Given the description of an element on the screen output the (x, y) to click on. 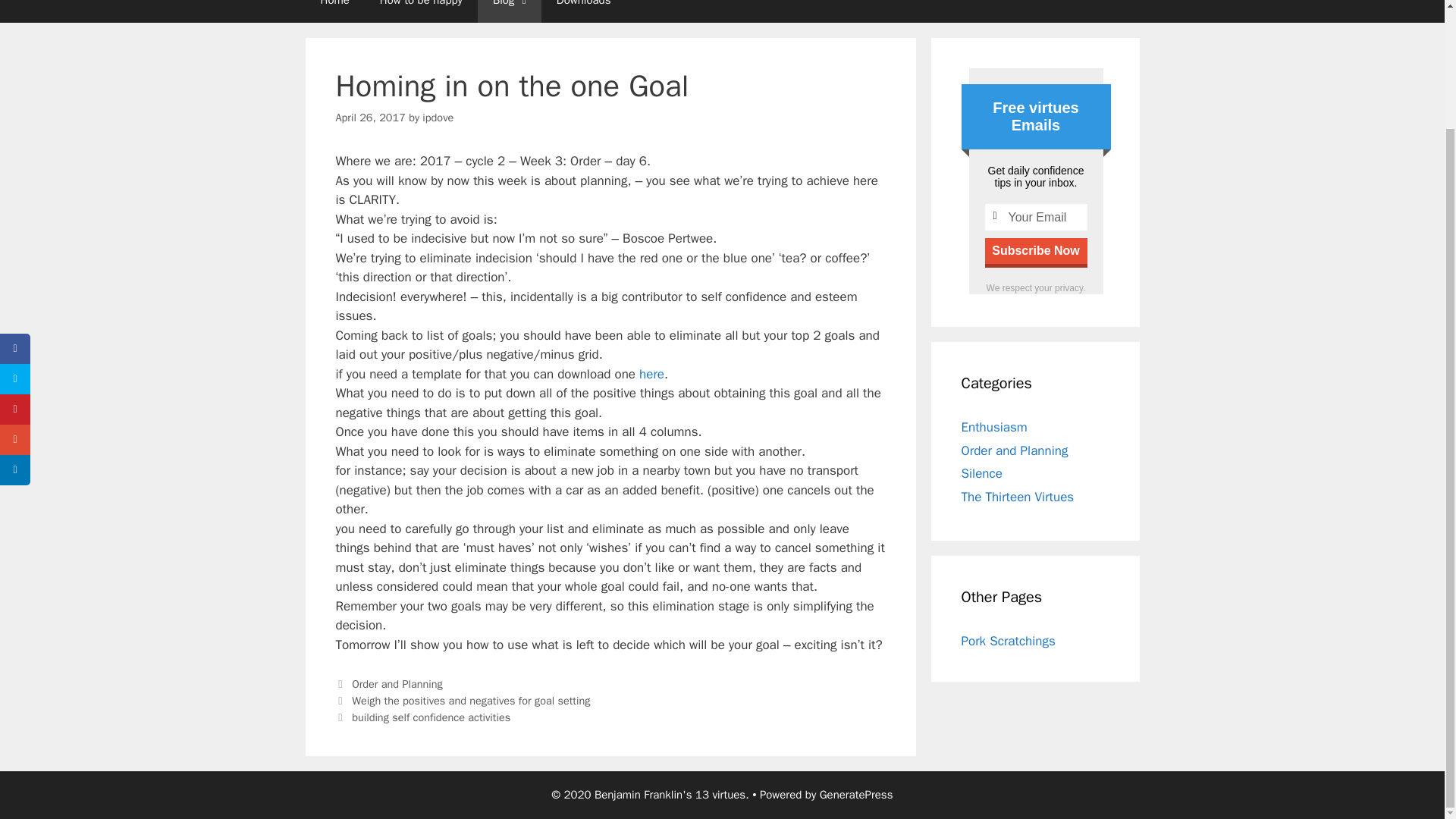
Subscribe Now (1035, 250)
Next (422, 716)
Order and Planning (1014, 450)
6:46 am (369, 117)
Home (334, 11)
Downloads (583, 11)
Pork Scratchings (1007, 641)
How to be happy (421, 11)
ipdove (437, 117)
building self confidence activities (431, 716)
